Given the description of an element on the screen output the (x, y) to click on. 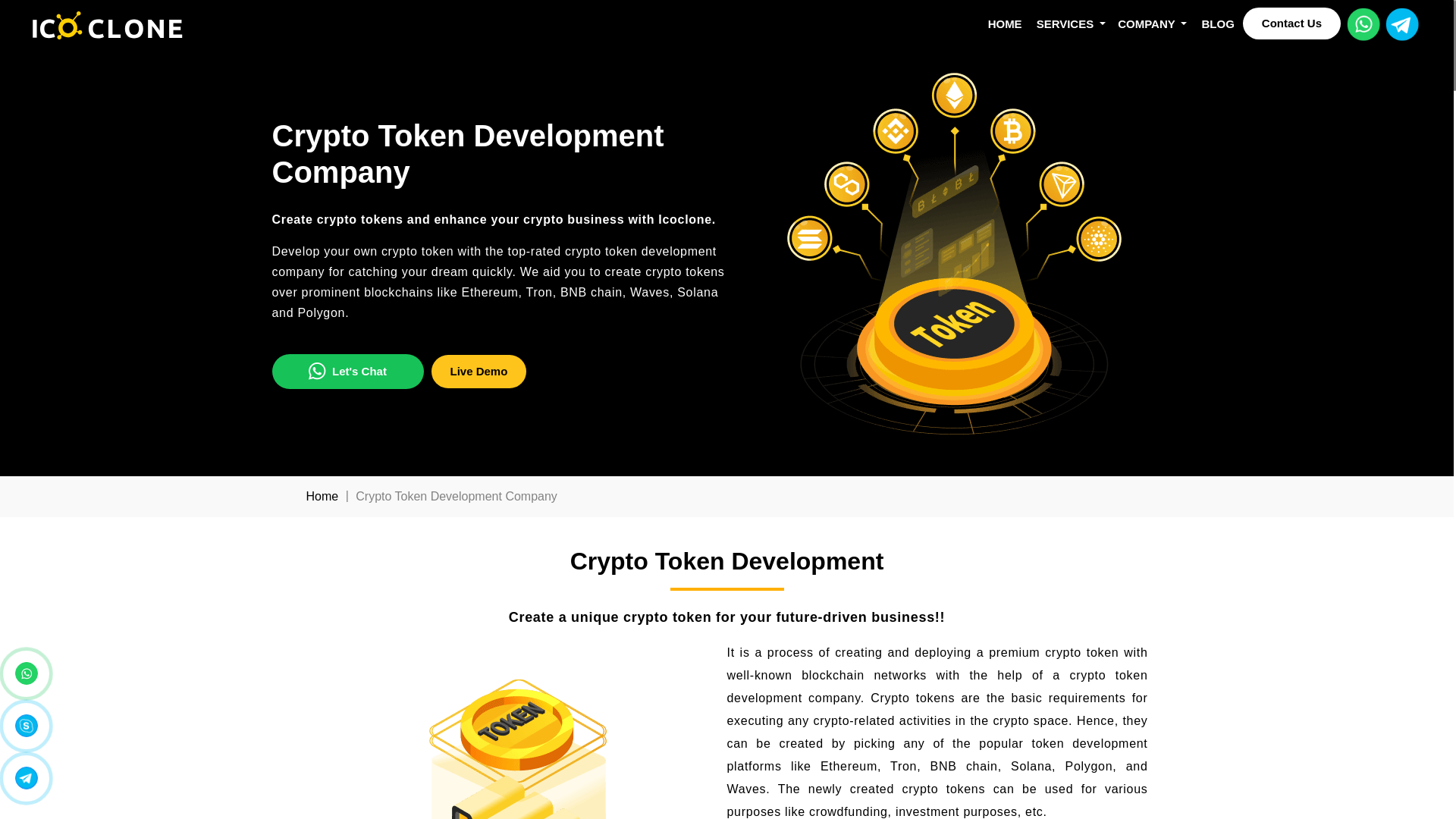
SERVICES (1071, 24)
BLOG (1216, 24)
SERVICES (1071, 24)
Let's Chat (346, 371)
Live Demo (477, 371)
Home (322, 495)
Contact Us (1291, 23)
HOME (1004, 24)
COMPANY (1152, 24)
COMPANY (1152, 24)
